Given the description of an element on the screen output the (x, y) to click on. 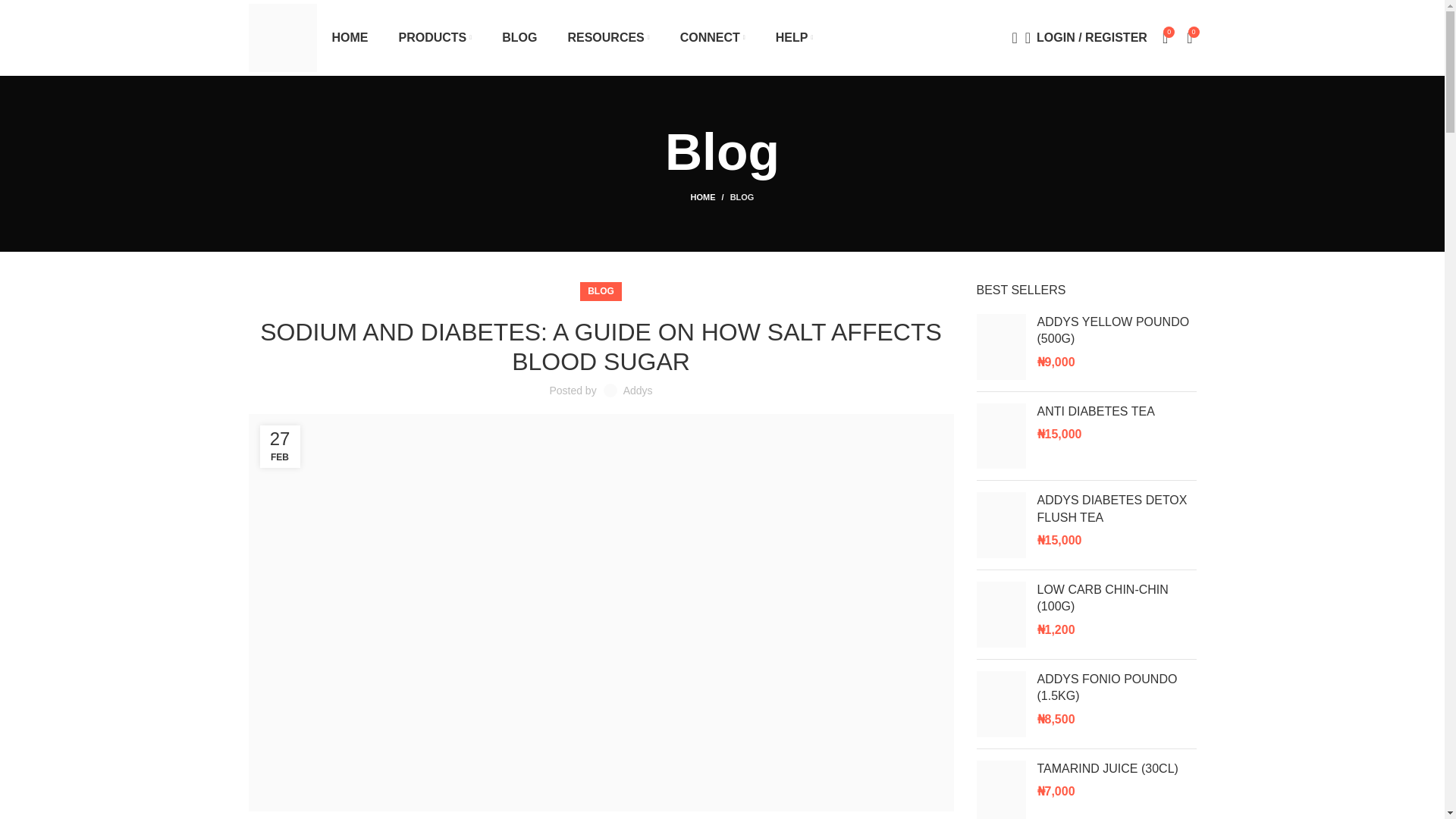
HOME (349, 37)
My account (1085, 37)
PRODUCTS (434, 37)
Anti Diabetes Tea (1116, 411)
ADDYS DIABETES DETOX FLUSH TEA (1116, 509)
